Given the description of an element on the screen output the (x, y) to click on. 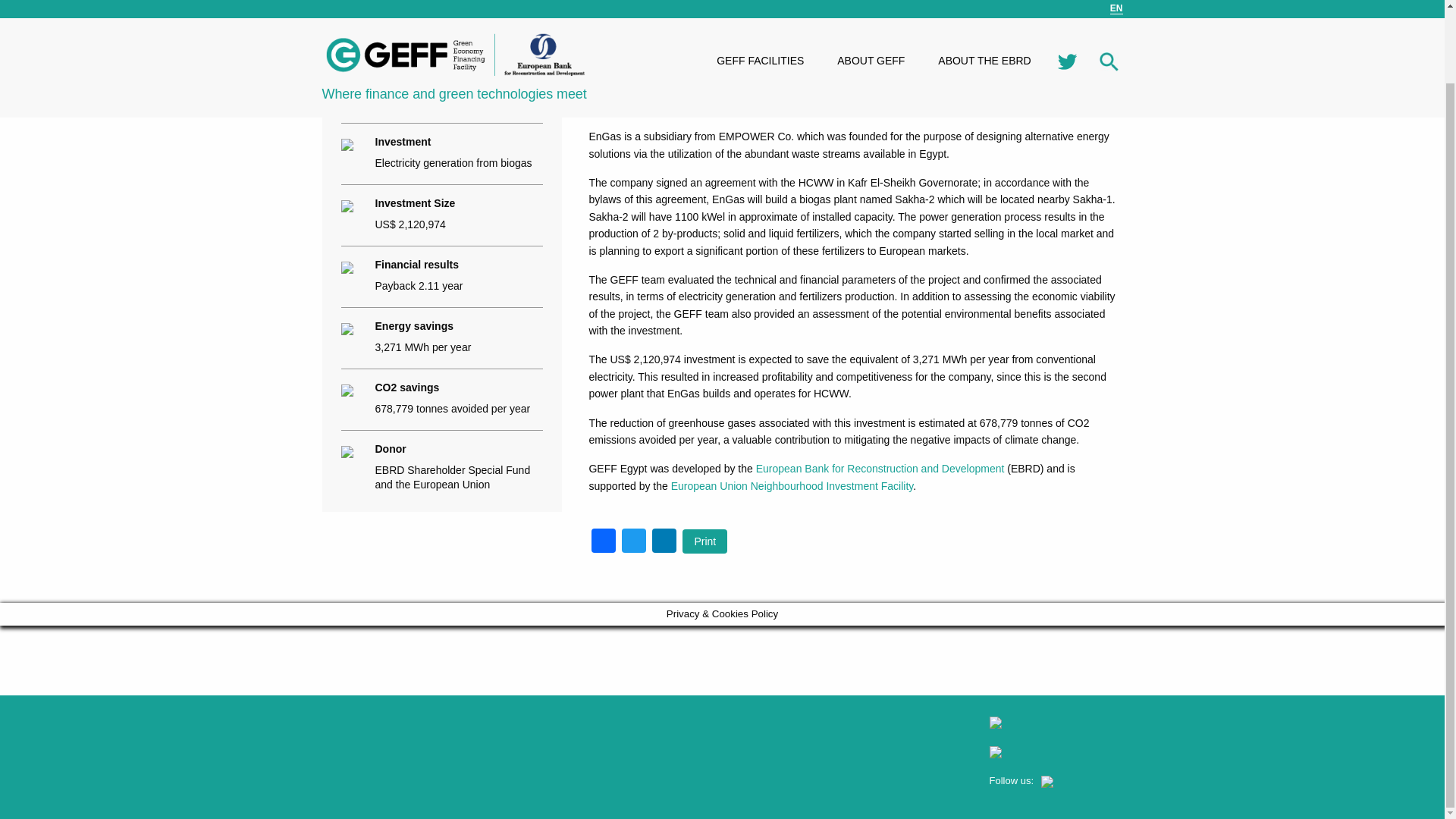
Facebook (603, 542)
LinkedIn (664, 542)
Where finance and green technologies meet (454, 11)
Twitter (633, 542)
